Given the description of an element on the screen output the (x, y) to click on. 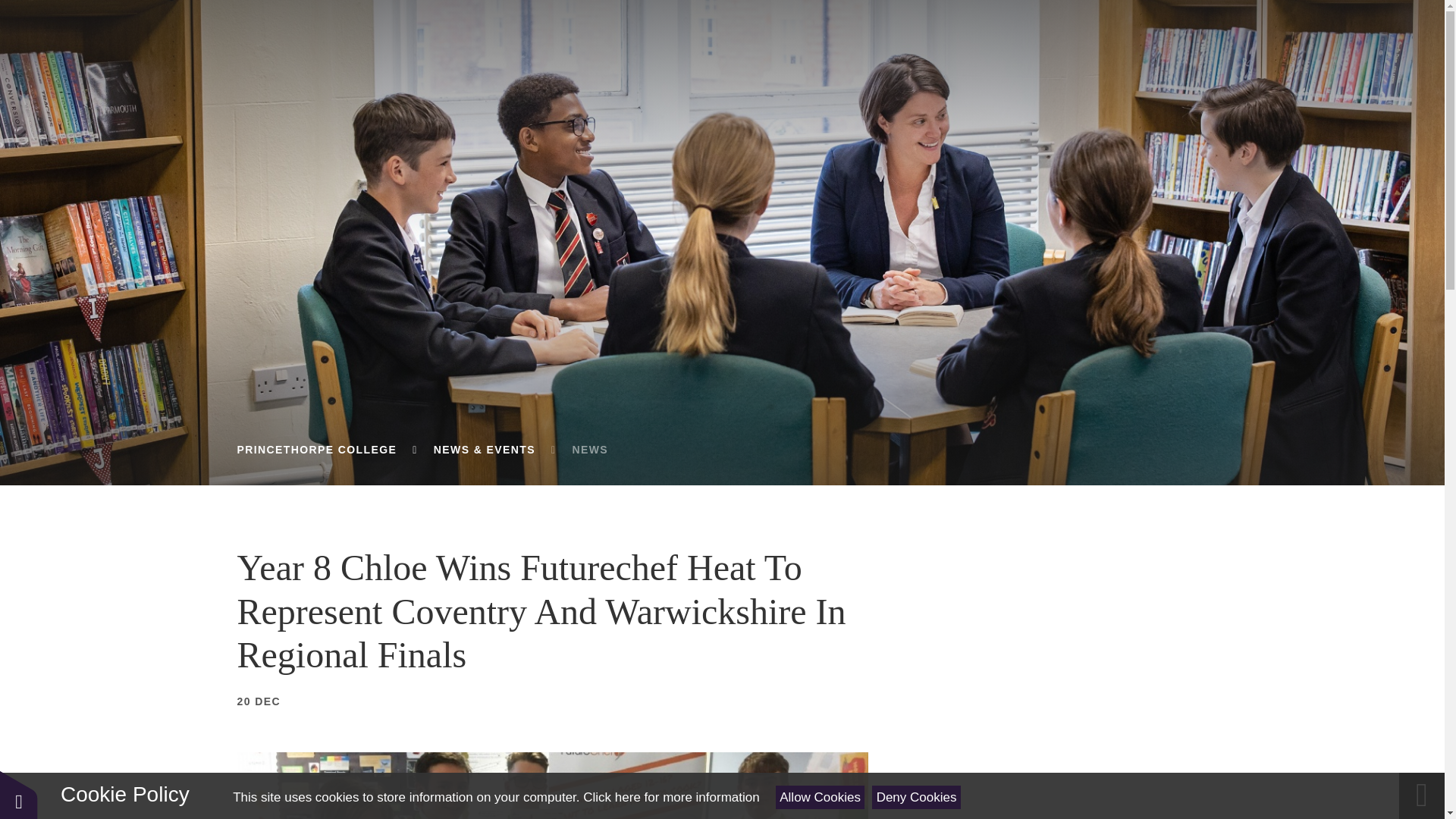
Deny Cookies (915, 797)
Allow Cookies (820, 797)
See cookie policy (670, 797)
